Given the description of an element on the screen output the (x, y) to click on. 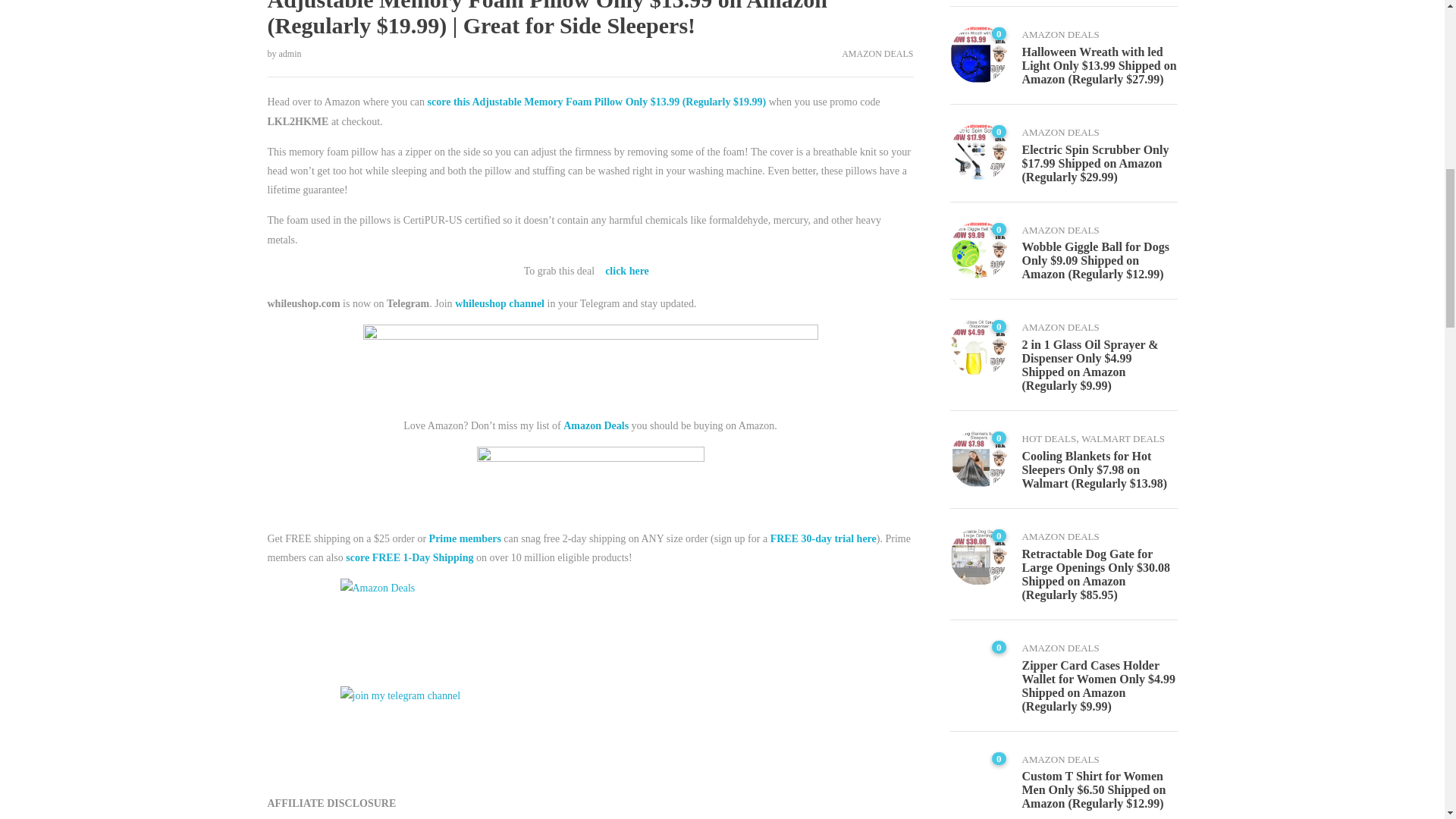
score FREE 1-Day Shipping (409, 557)
click here (627, 270)
Amazon Deals (595, 425)
FREE 30-day trial here (823, 538)
admin (290, 53)
Prime members (464, 538)
whileushop channel (499, 303)
AMAZON DEALS (876, 53)
